Given the description of an element on the screen output the (x, y) to click on. 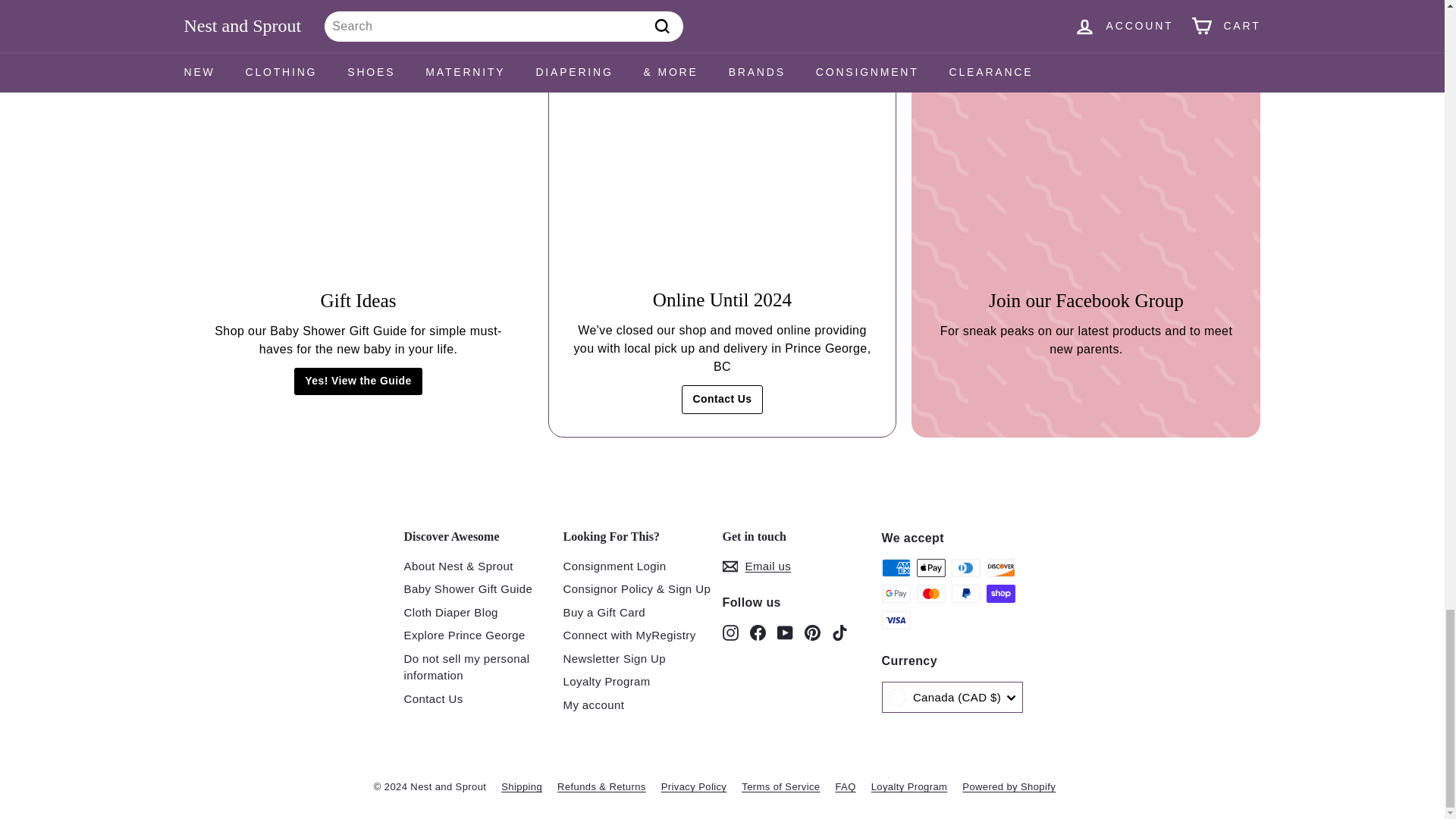
Nest and Sprout on Facebook (757, 631)
Nest and Sprout on Instagram (730, 631)
American Express (895, 567)
